Given the description of an element on the screen output the (x, y) to click on. 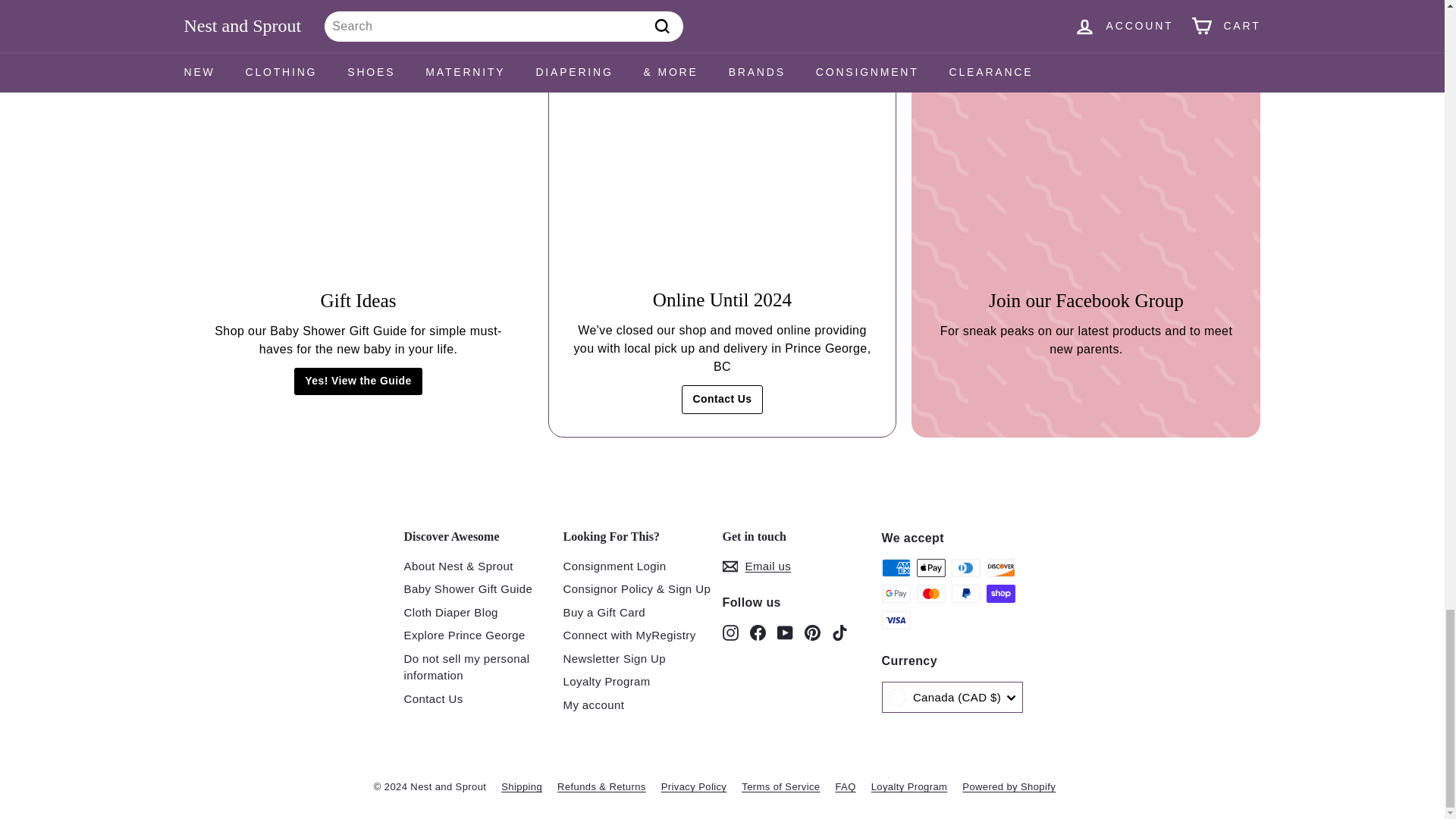
Nest and Sprout on Facebook (757, 631)
Nest and Sprout on Instagram (730, 631)
American Express (895, 567)
